Given the description of an element on the screen output the (x, y) to click on. 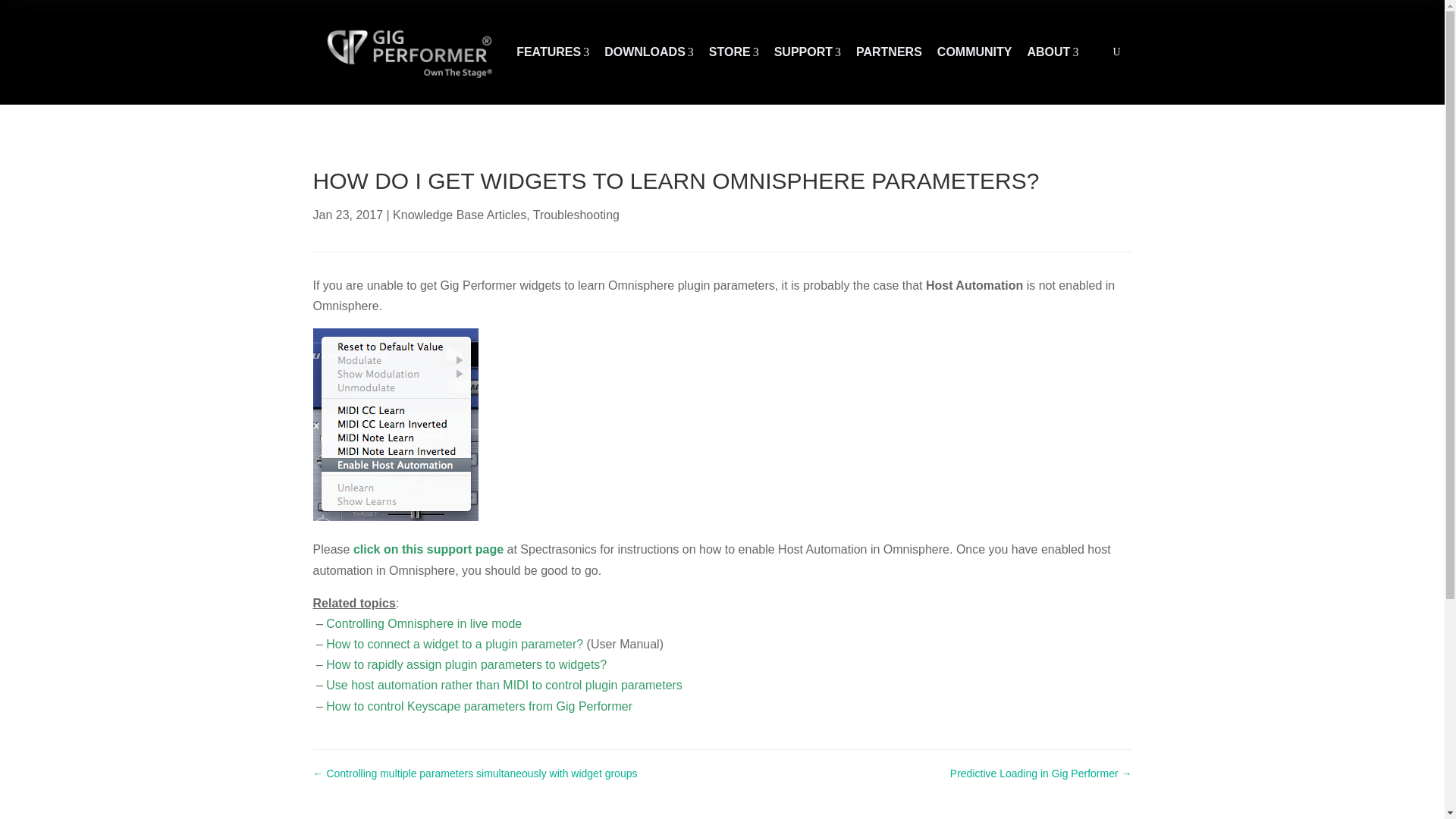
U (649, 52)
PARTNERS (552, 52)
COMMUNITY (1052, 52)
